Given the description of an element on the screen output the (x, y) to click on. 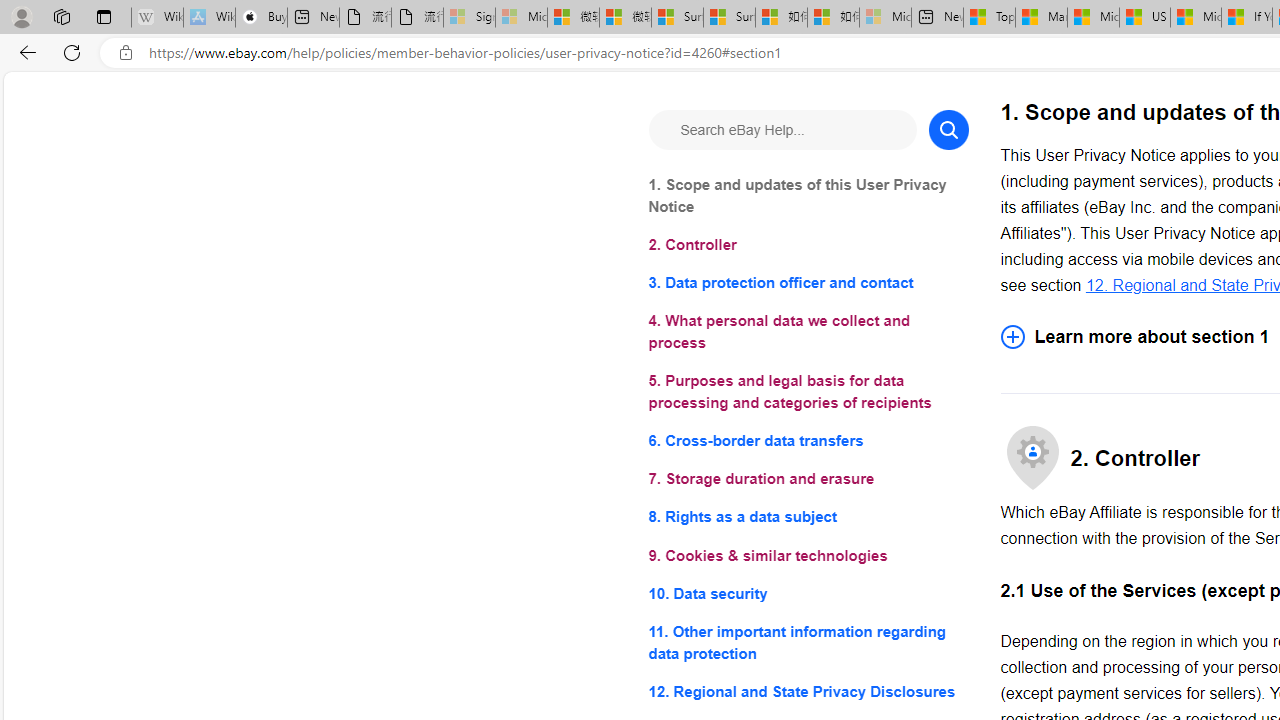
US Heat Deaths Soared To Record High Last Year (1144, 17)
12. Regional and State Privacy Disclosures (807, 690)
Top Stories - MSN (989, 17)
9. Cookies & similar technologies (807, 555)
Sign in to your Microsoft account - Sleeping (469, 17)
Search eBay Help... (781, 129)
Buy iPad - Apple (260, 17)
7. Storage duration and erasure (807, 479)
